Given the description of an element on the screen output the (x, y) to click on. 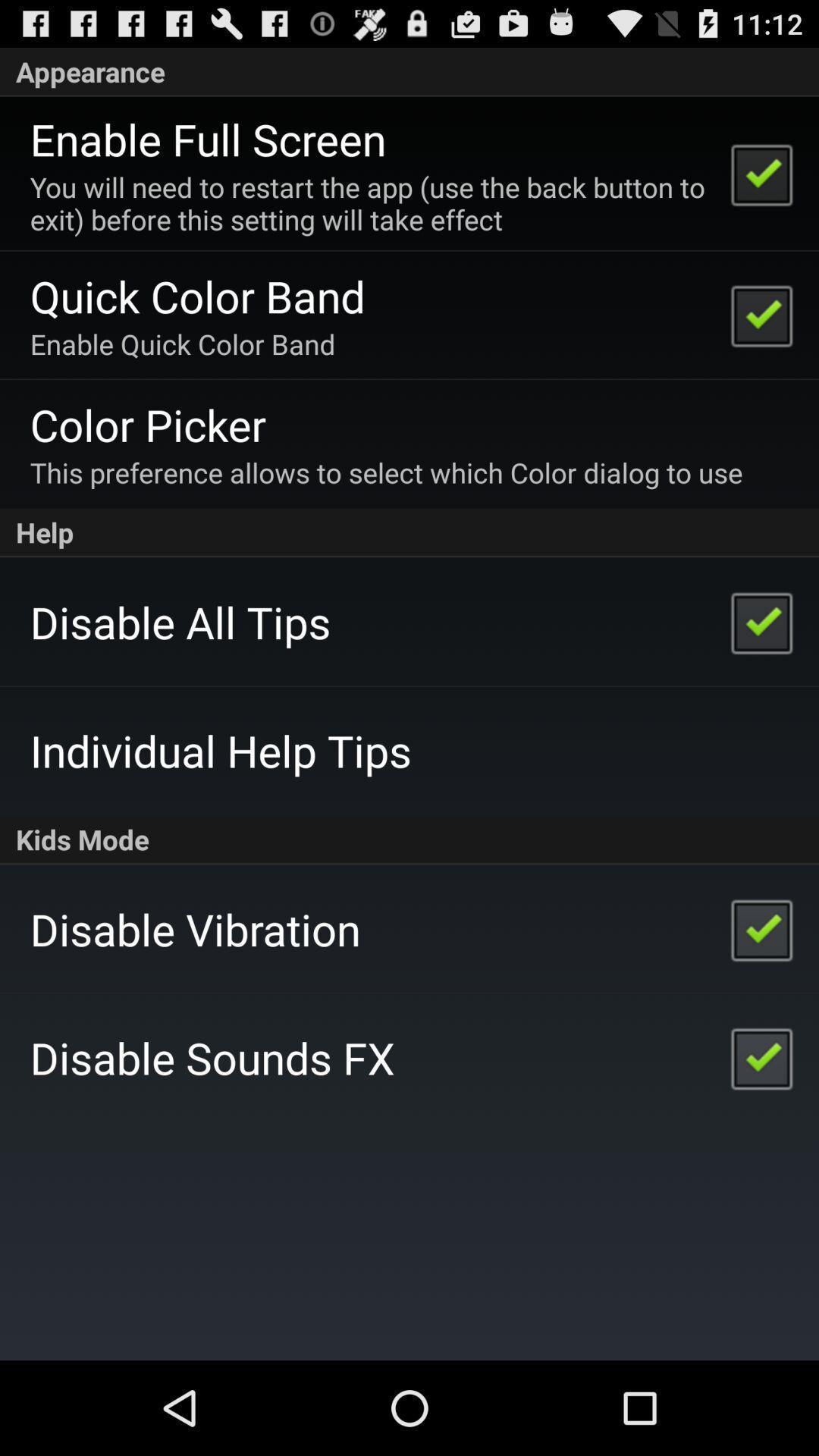
open icon above quick color band icon (370, 203)
